Given the description of an element on the screen output the (x, y) to click on. 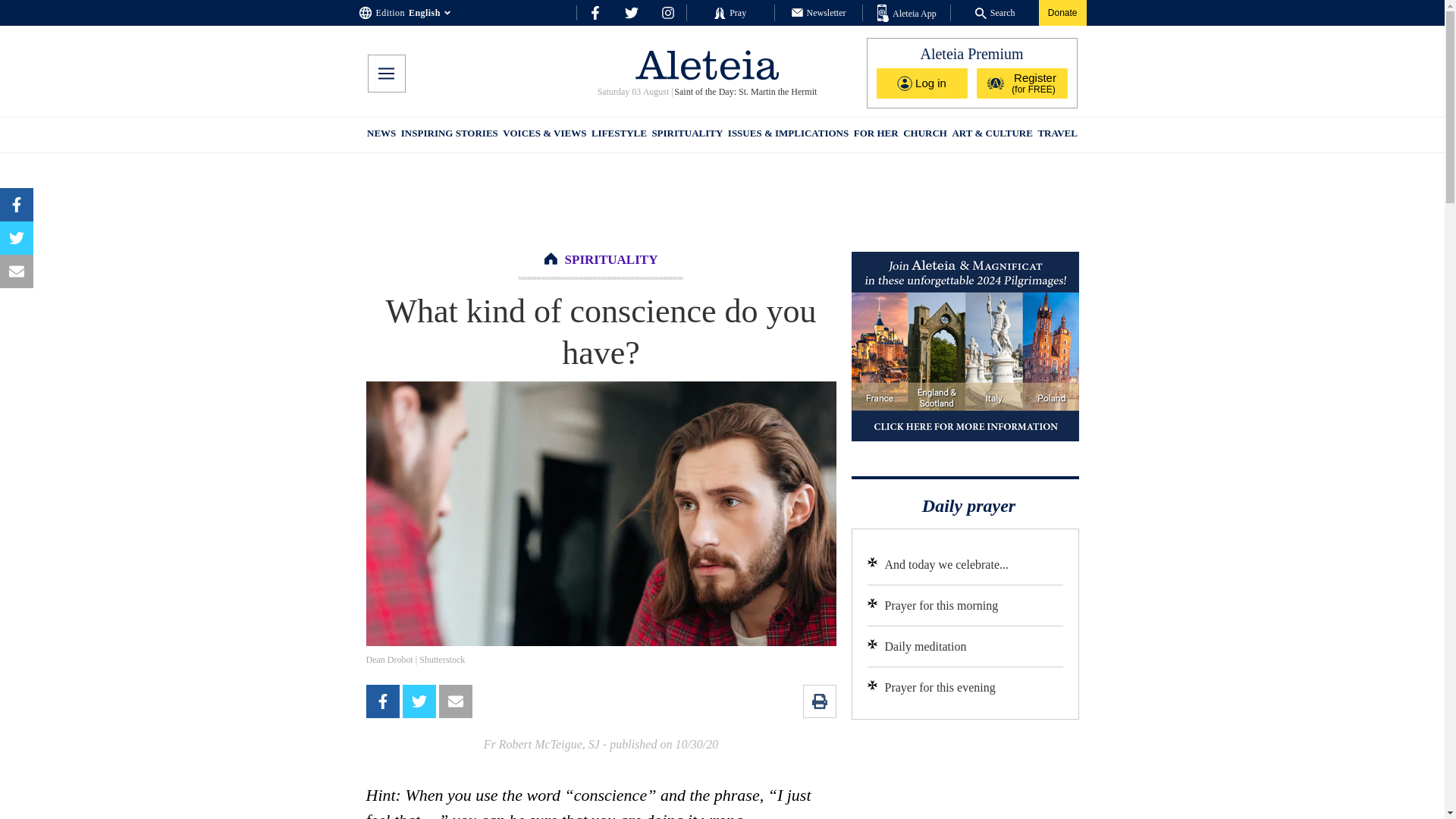
Pray (729, 12)
SPIRITUALITY (611, 259)
Newsletter (818, 12)
logo-header (706, 64)
social-ig-top-row (668, 12)
SPIRITUALITY (686, 134)
TRAVEL (1056, 134)
Fr Robert McTeigue, SJ (541, 744)
mobile-menu-btn (385, 73)
Aleteia App (906, 13)
